Given the description of an element on the screen output the (x, y) to click on. 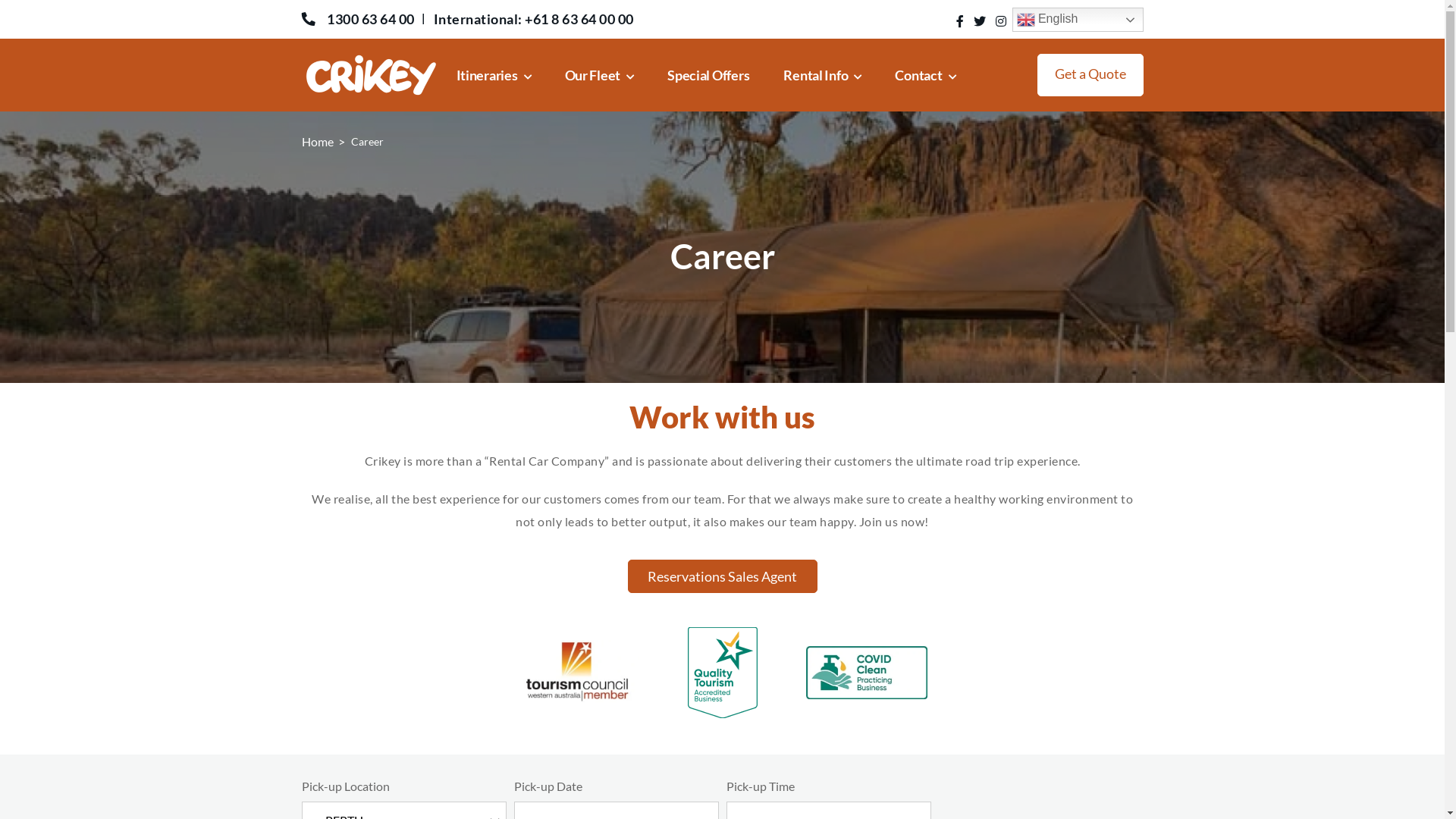
Contact Element type: text (924, 74)
1300 63 64 00 Element type: text (363, 18)
Our Fleet Element type: text (599, 74)
Reservations Sales Agent Element type: text (722, 576)
Rental Info Element type: text (821, 74)
International: +61 8 63 64 00 00 Element type: text (539, 18)
Get a Quote Element type: text (1090, 74)
Home Element type: text (317, 141)
Itineraries Element type: text (493, 74)
Special Offers Element type: text (707, 74)
English Element type: text (1076, 19)
